Given the description of an element on the screen output the (x, y) to click on. 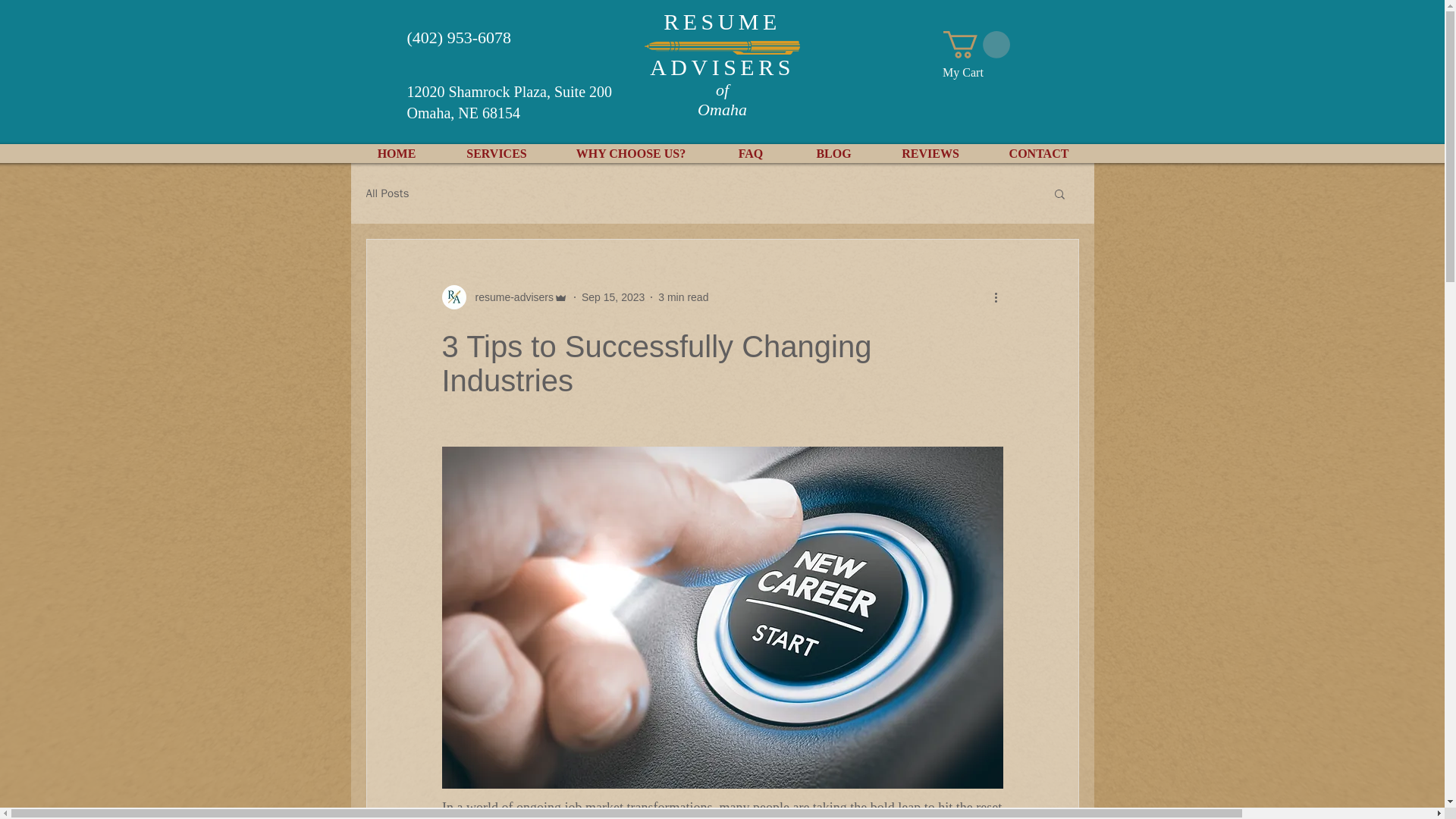
CONTACT (1037, 153)
BLOG (833, 153)
Sep 15, 2023 (612, 297)
resume-advisers (504, 297)
3 min read (682, 297)
All Posts (387, 193)
FAQ (750, 153)
HOME (396, 153)
REVIEWS (929, 153)
WHY CHOOSE US? (630, 153)
resume-advisers (509, 297)
